Given the description of an element on the screen output the (x, y) to click on. 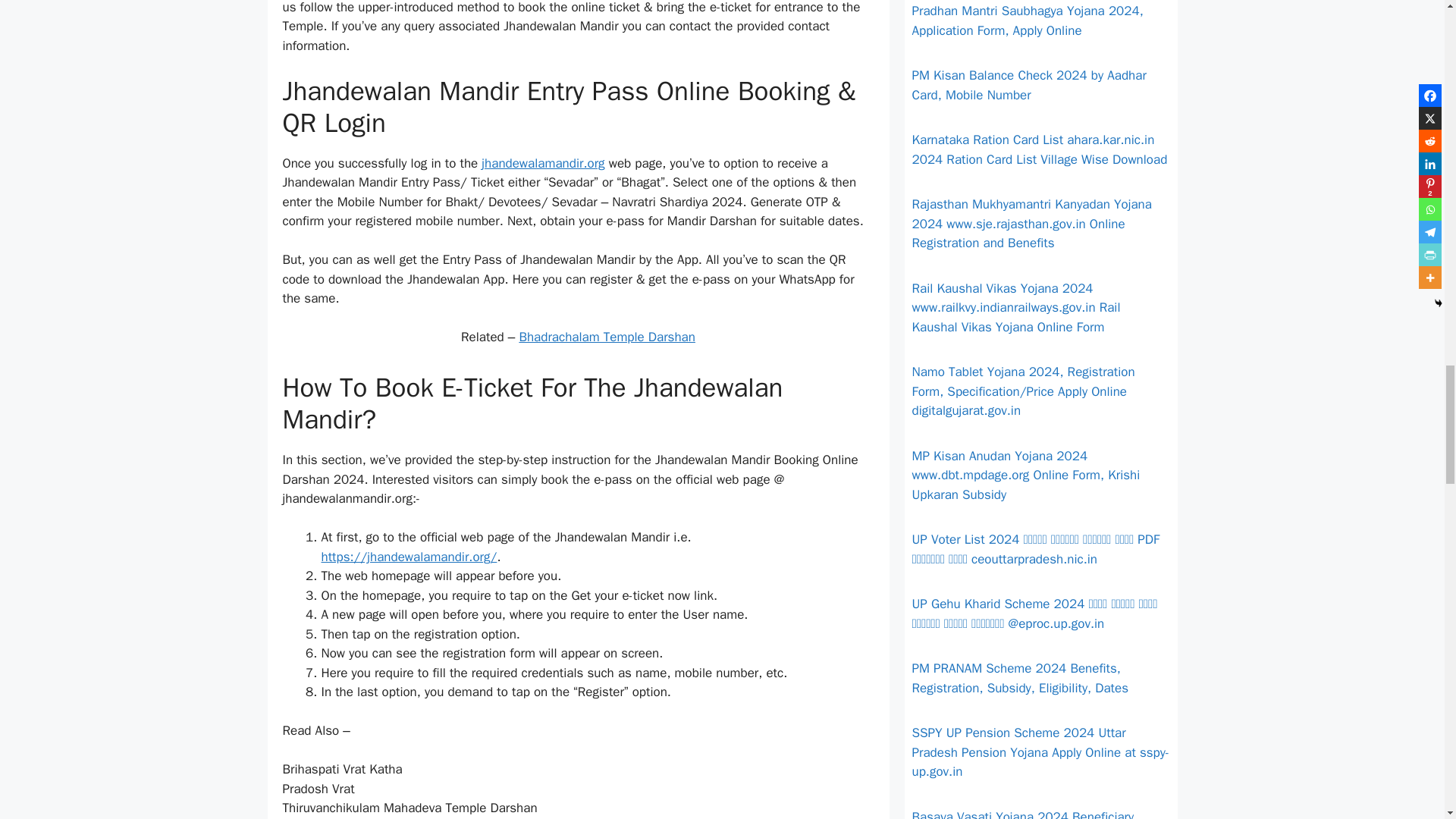
Pradosh Vrat (317, 788)
Brihaspati Vrat Katha (341, 769)
Bhadrachalam Temple Darshan (606, 336)
jhandewalamandir.org (542, 163)
Thiruvanchikulam Mahadeva Temple Darshan (409, 807)
